Given the description of an element on the screen output the (x, y) to click on. 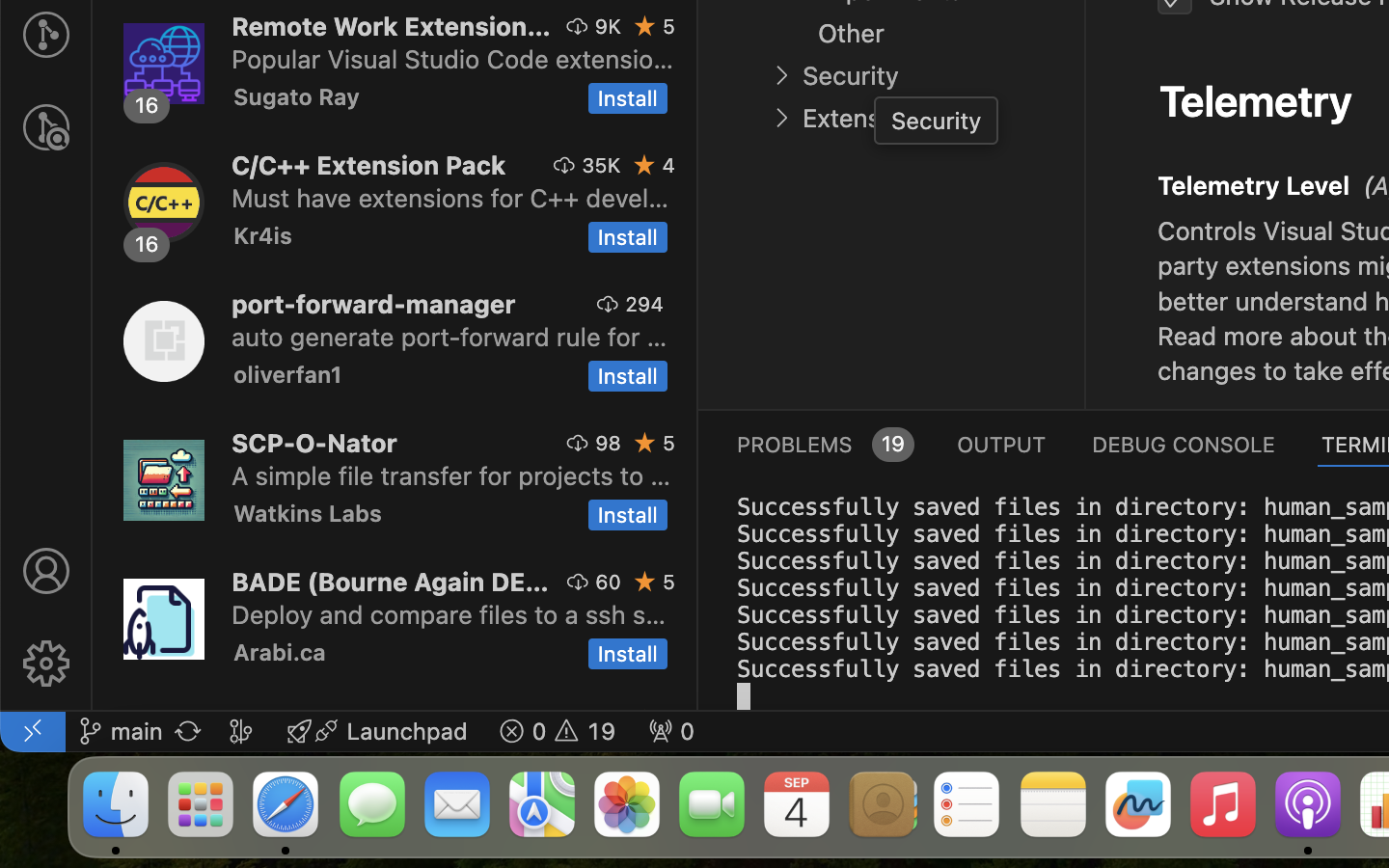
Launchpad   Element type: AXButton (376, 730)
 Element type: AXStaticText (563, 164)
main  Element type: AXButton (120, 730)
 Element type: AXStaticText (780, 74)
Arabi.ca Element type: AXStaticText (279, 651)
